Given the description of an element on the screen output the (x, y) to click on. 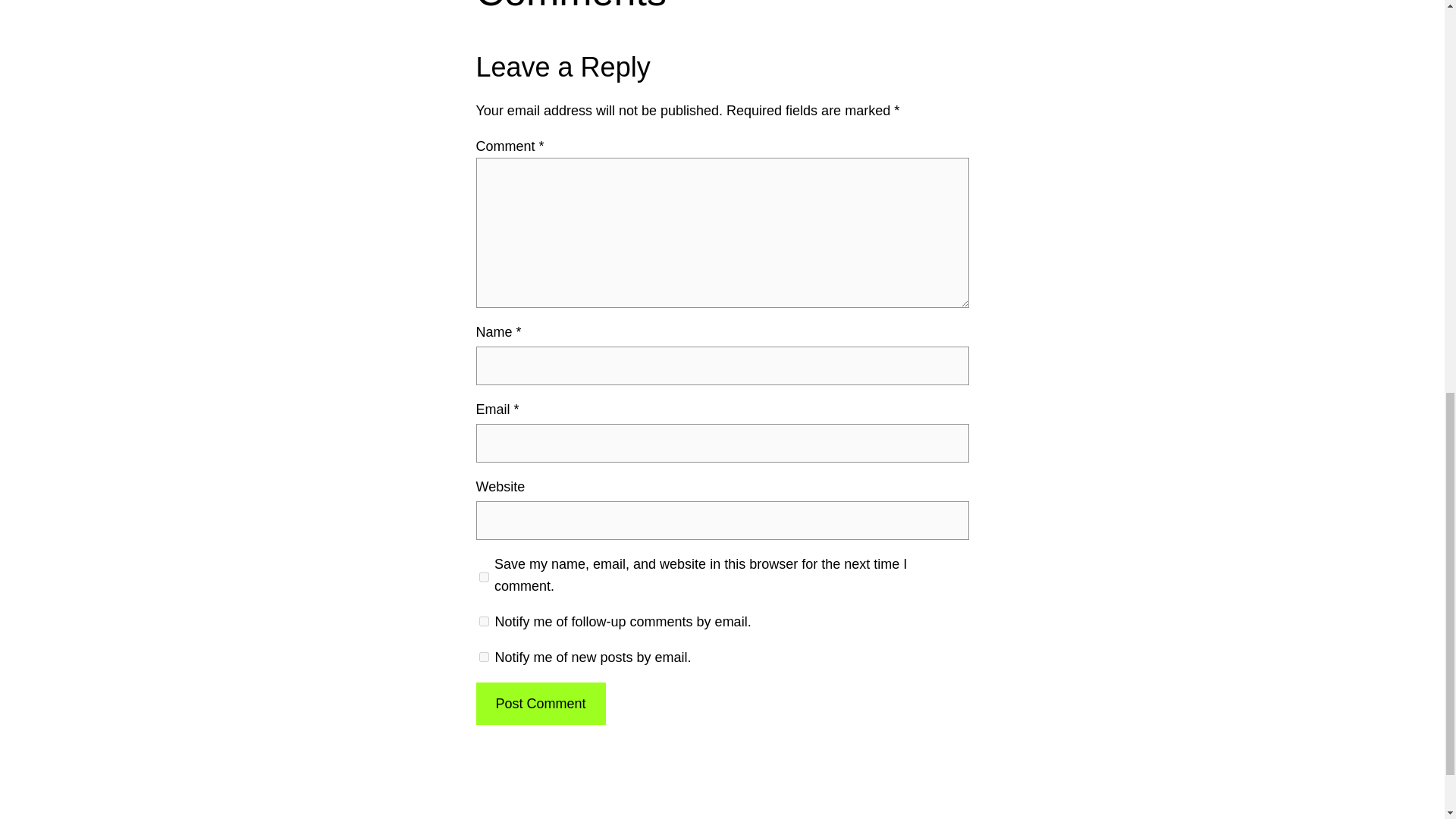
Post Comment (540, 703)
Post Comment (540, 703)
subscribe (484, 656)
subscribe (484, 621)
